Given the description of an element on the screen output the (x, y) to click on. 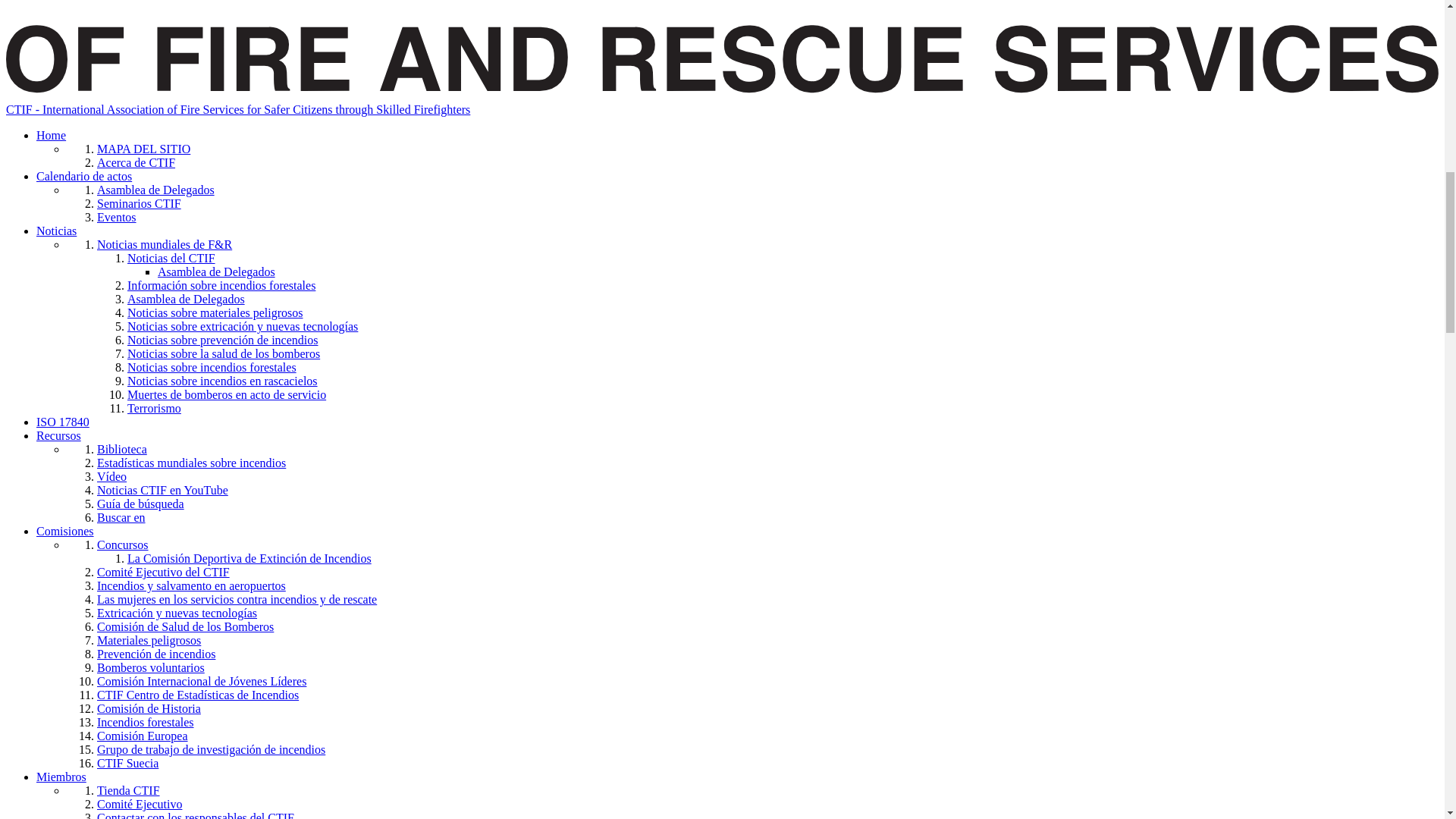
Noticias sobre la salud de los bomberos (224, 353)
Home (50, 134)
Acerca de CTIF (135, 162)
Asamblea de Delegados (155, 189)
Seminarios CTIF (138, 203)
Calendario de actos (84, 175)
Asamblea de Delegados (186, 298)
Eventos (116, 216)
MAPA DEL SITIO (143, 148)
Asamblea de Delegados (216, 271)
Noticias del CTIF (171, 257)
Noticias sobre incendios forestales (212, 367)
Noticias sobre materiales peligrosos (215, 312)
Noticias sobre incendios en rascacielos (222, 380)
